Given the description of an element on the screen output the (x, y) to click on. 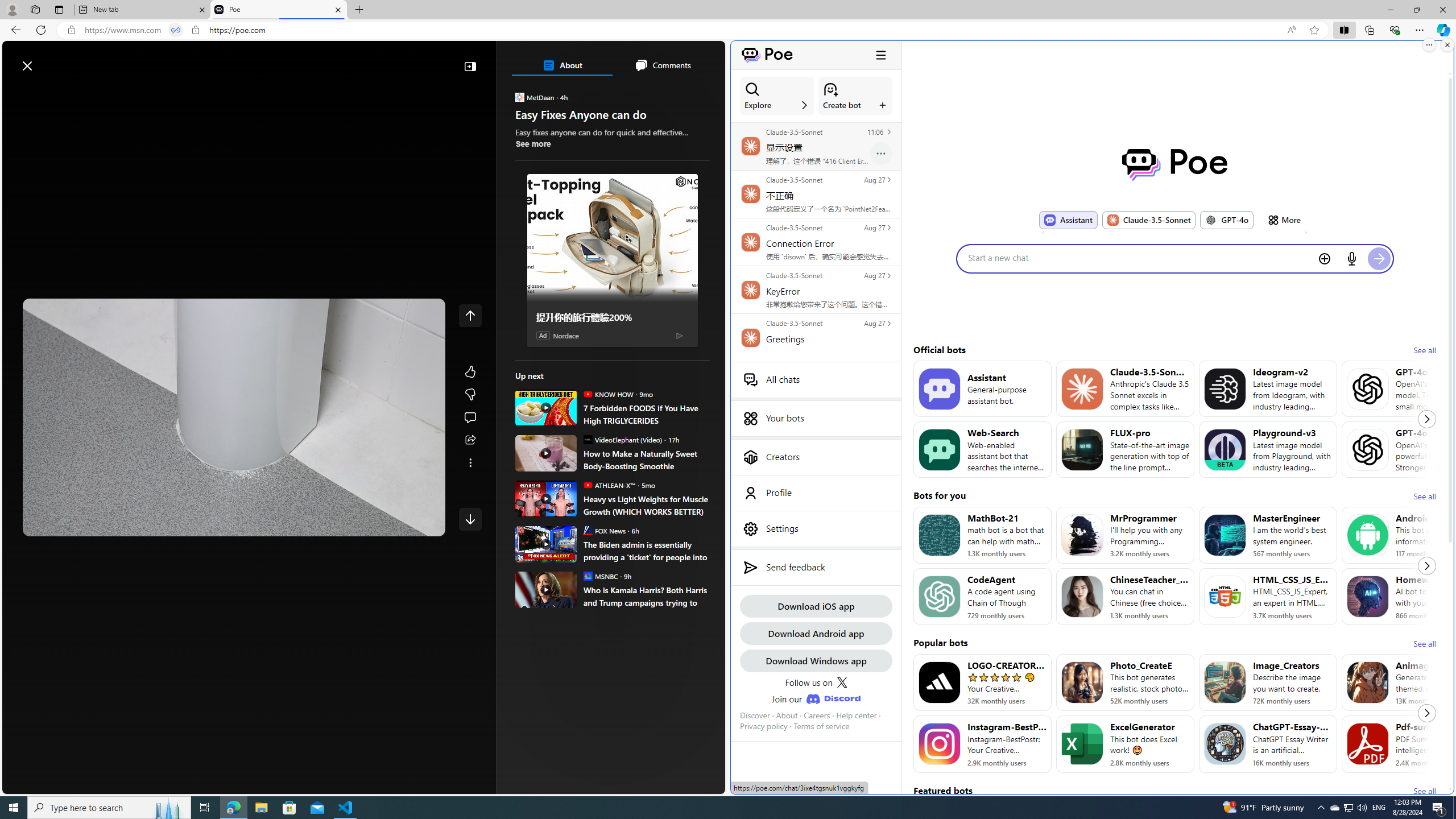
Share this story (469, 440)
Quality Settings (360, 523)
The Associated Press (554, 366)
Toggle sidebar collapse (880, 54)
Careers (816, 714)
VideoElephant (Video) VideoElephant (Video) (622, 438)
Bot image for AndroidAssistant (1367, 534)
